Given the description of an element on the screen output the (x, y) to click on. 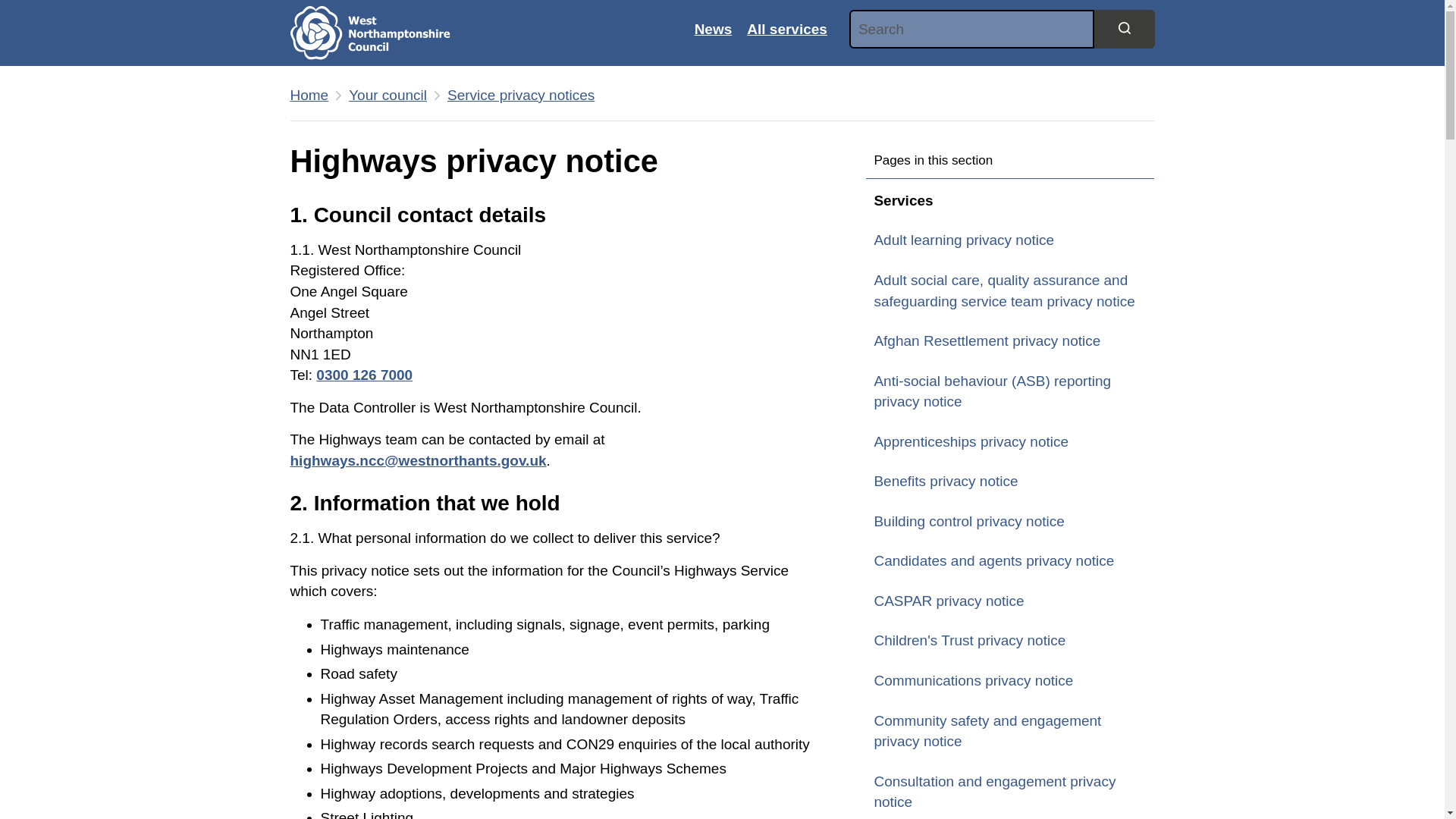
Communications privacy notice (1010, 680)
Your council (387, 94)
CASPAR privacy notice (1010, 601)
Consultation and engagement privacy notice (1010, 791)
Service privacy notices (520, 94)
Home (380, 32)
Home (309, 94)
Community safety and engagement privacy notice (1010, 731)
Home (309, 94)
Adult learning privacy notice (1010, 239)
